Given the description of an element on the screen output the (x, y) to click on. 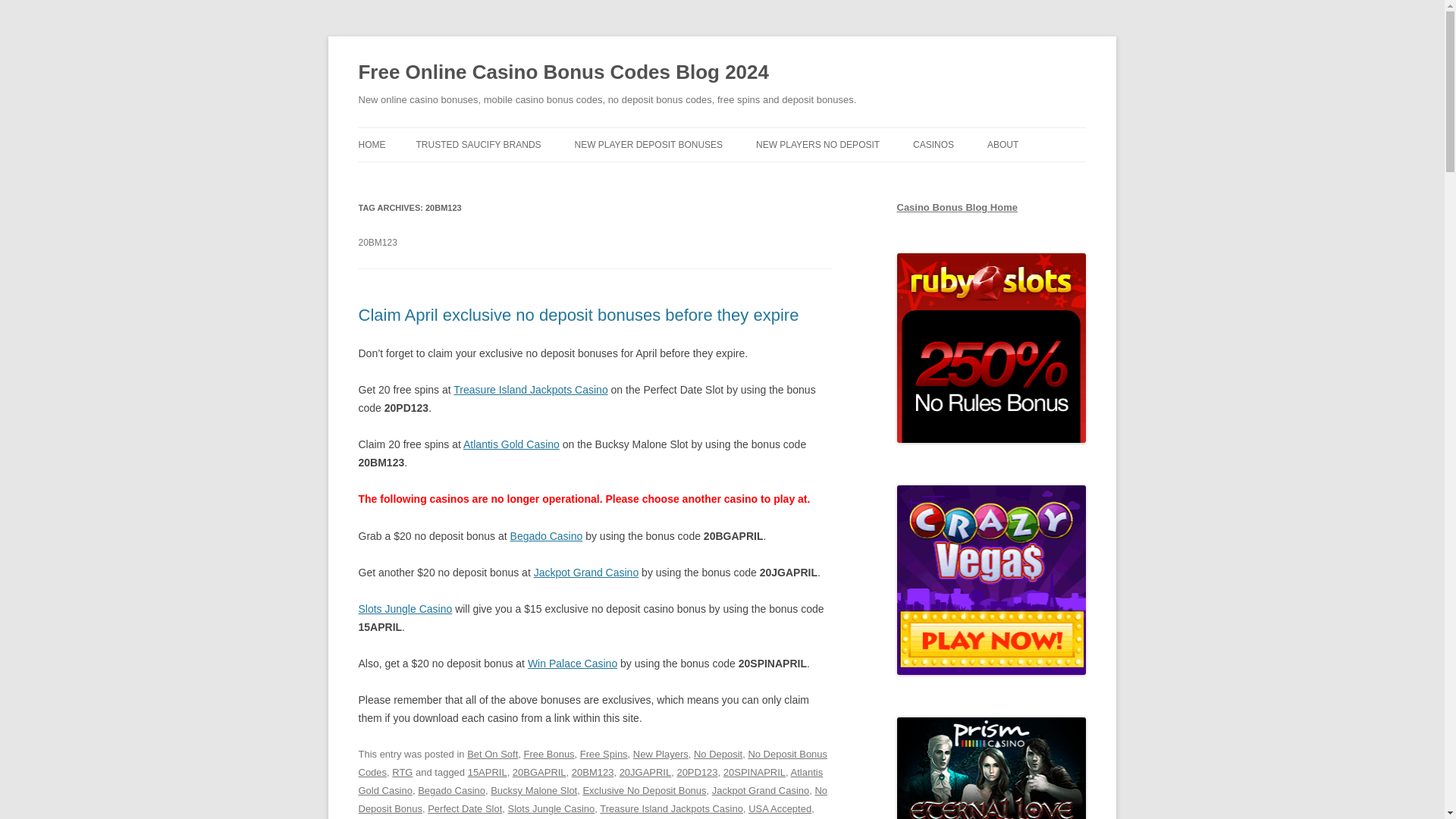
CASINOS (932, 144)
Casino Bonus Blog Home (956, 206)
EXCLUSIVE NEW PLAYER DEPOSIT BONUSES (650, 185)
EXCLUSIVE NO DEPOSIT BONUSES (831, 185)
Prism Casino No Rules Bonus Plus Free Spins (991, 768)
NEW PLAYERS NO DEPOSIT (817, 144)
NEW PLAYER DEPOSIT BONUSES (649, 144)
TRUSTED SAUCIFY BRANDS (477, 144)
Free Online Casino Bonus Codes Blog 2024 (563, 72)
Ruby Slots Free Online Casino Bonuses (991, 348)
HOME (371, 144)
GAMES (988, 176)
